Given the description of an element on the screen output the (x, y) to click on. 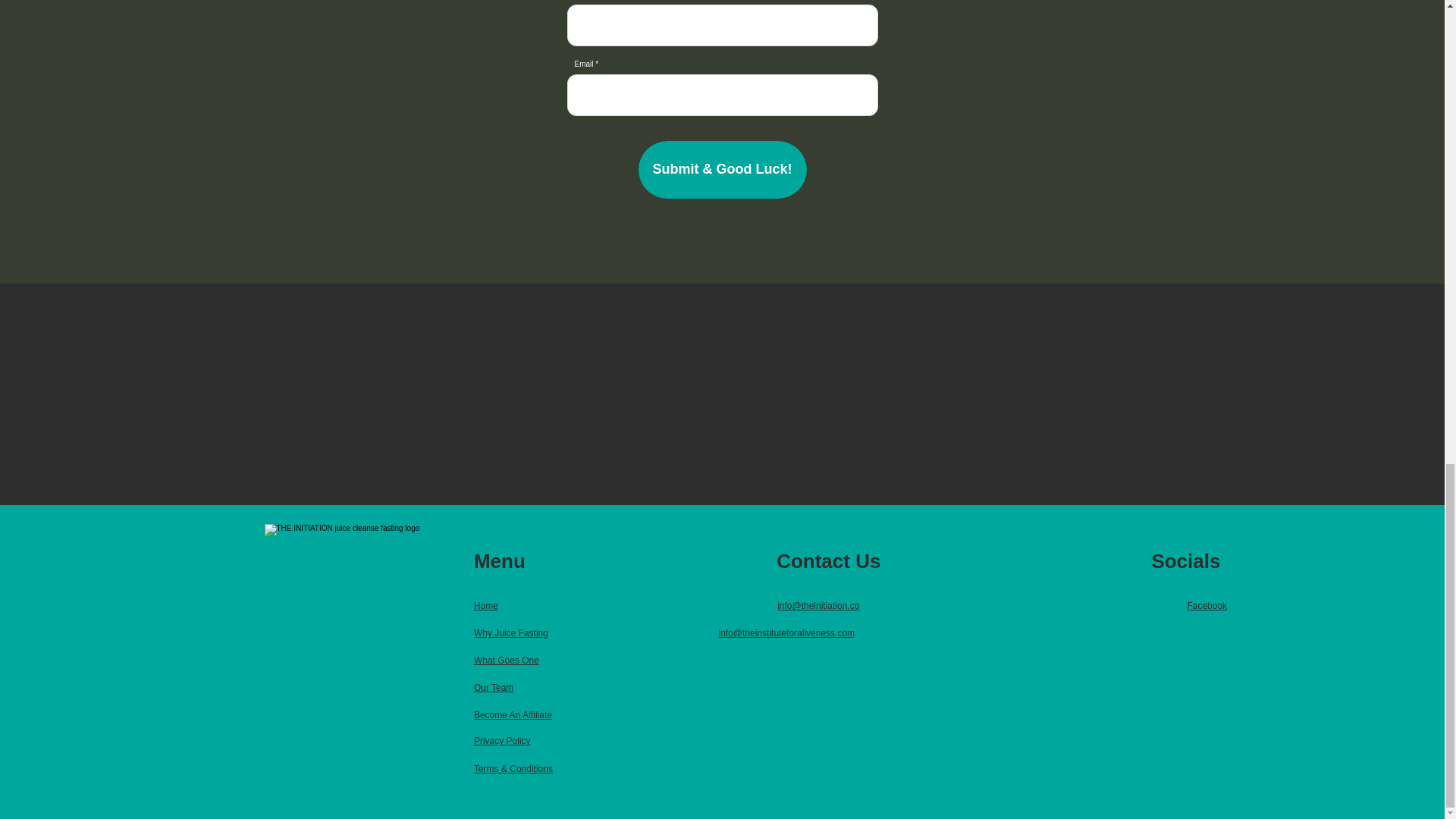
What Goes One (506, 660)
Our Team (493, 687)
Why Juice Fasting (511, 633)
Home (485, 605)
Privacy Policy (502, 740)
Facebook (1206, 605)
Become An Affiliate (512, 715)
